Given the description of an element on the screen output the (x, y) to click on. 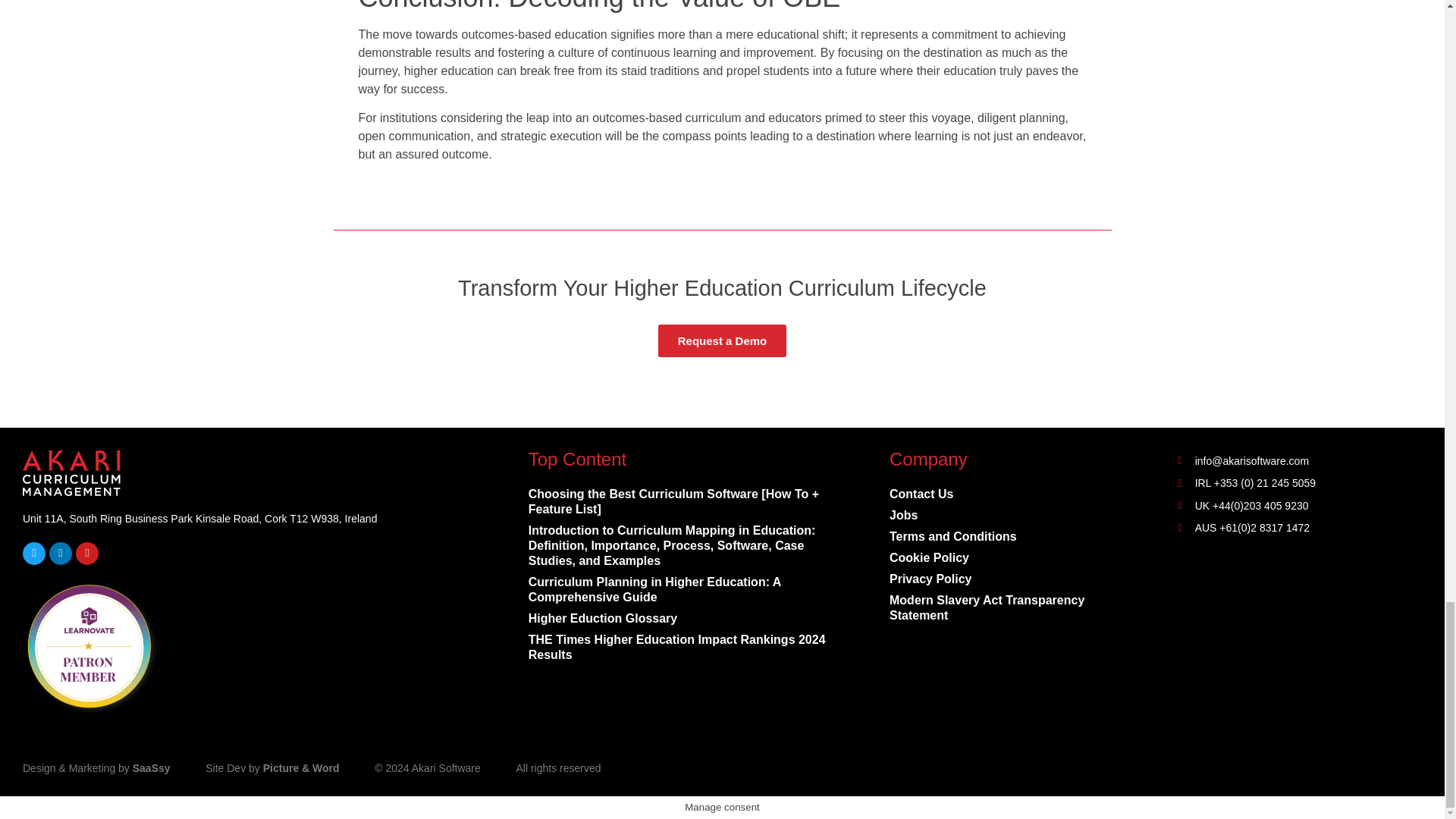
THE Times Higher Education Impact Rankings 2024 Results (678, 647)
Modern Slavery Act Transparency Statement (1003, 607)
Request a Demo (722, 340)
Terms and Conditions (1003, 536)
Cookie Policy (1003, 557)
Contact Us (1003, 494)
Higher Eduction Glossary (678, 618)
Jobs (1003, 515)
Privacy Policy (1003, 578)
